Given the description of an element on the screen output the (x, y) to click on. 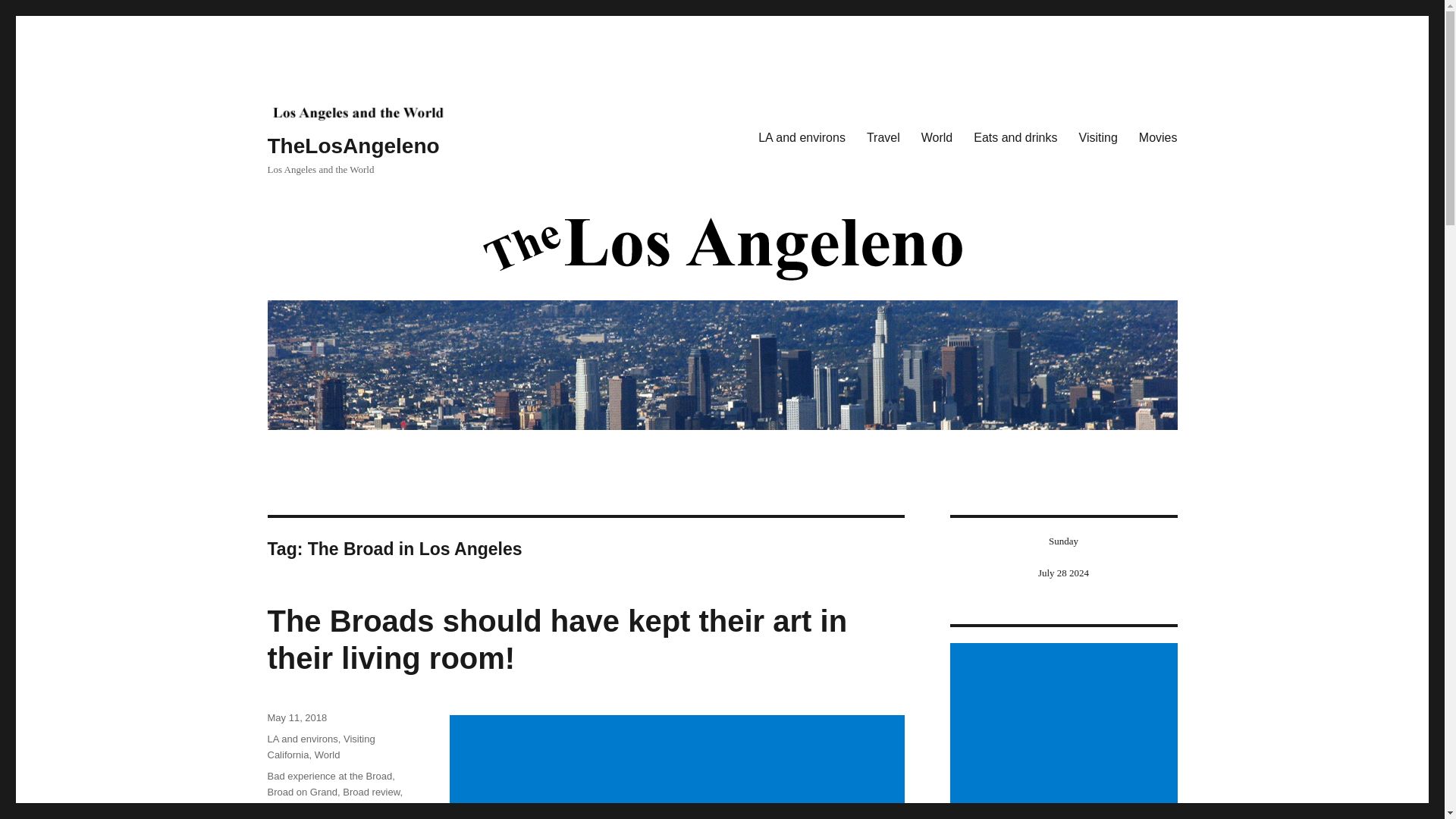
Eats and drinks (1014, 137)
Visiting (1098, 137)
TheLosAngeleno (352, 146)
Bad experience at the Broad (328, 776)
Broad review (370, 791)
Movies (1158, 137)
Advertisement (679, 767)
Broad worst museum (312, 808)
World (327, 754)
LA and environs (301, 738)
The Broads should have kept their art in their living room! (556, 639)
Advertisement (1065, 731)
Visiting California (320, 746)
World (937, 137)
